Given the description of an element on the screen output the (x, y) to click on. 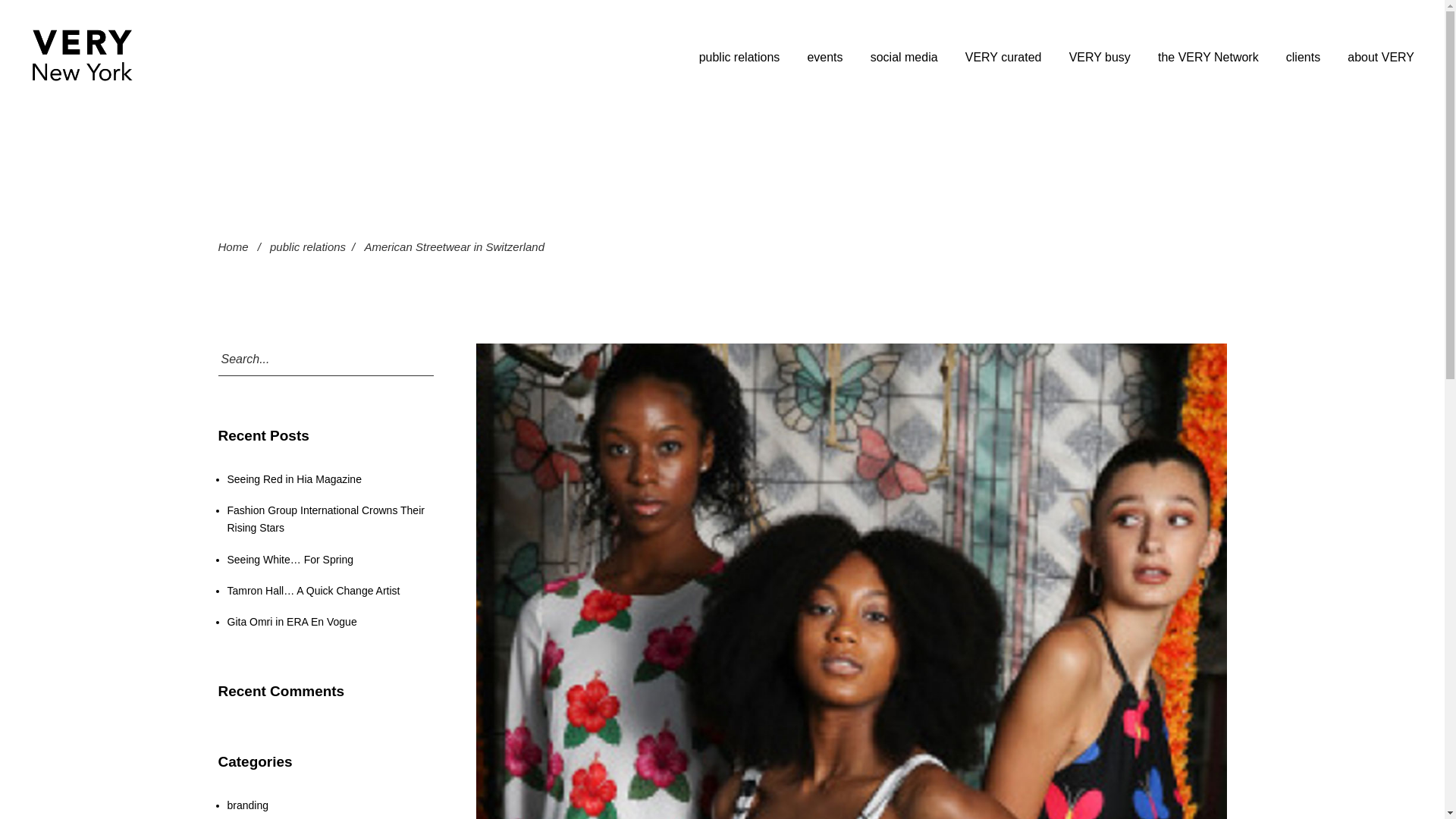
social media (903, 56)
public relations (739, 56)
clients (1302, 56)
about VERY (1380, 56)
the VERY Network (1208, 56)
VERY curated (1003, 56)
events (824, 56)
VERY busy (1099, 56)
